Given the description of an element on the screen output the (x, y) to click on. 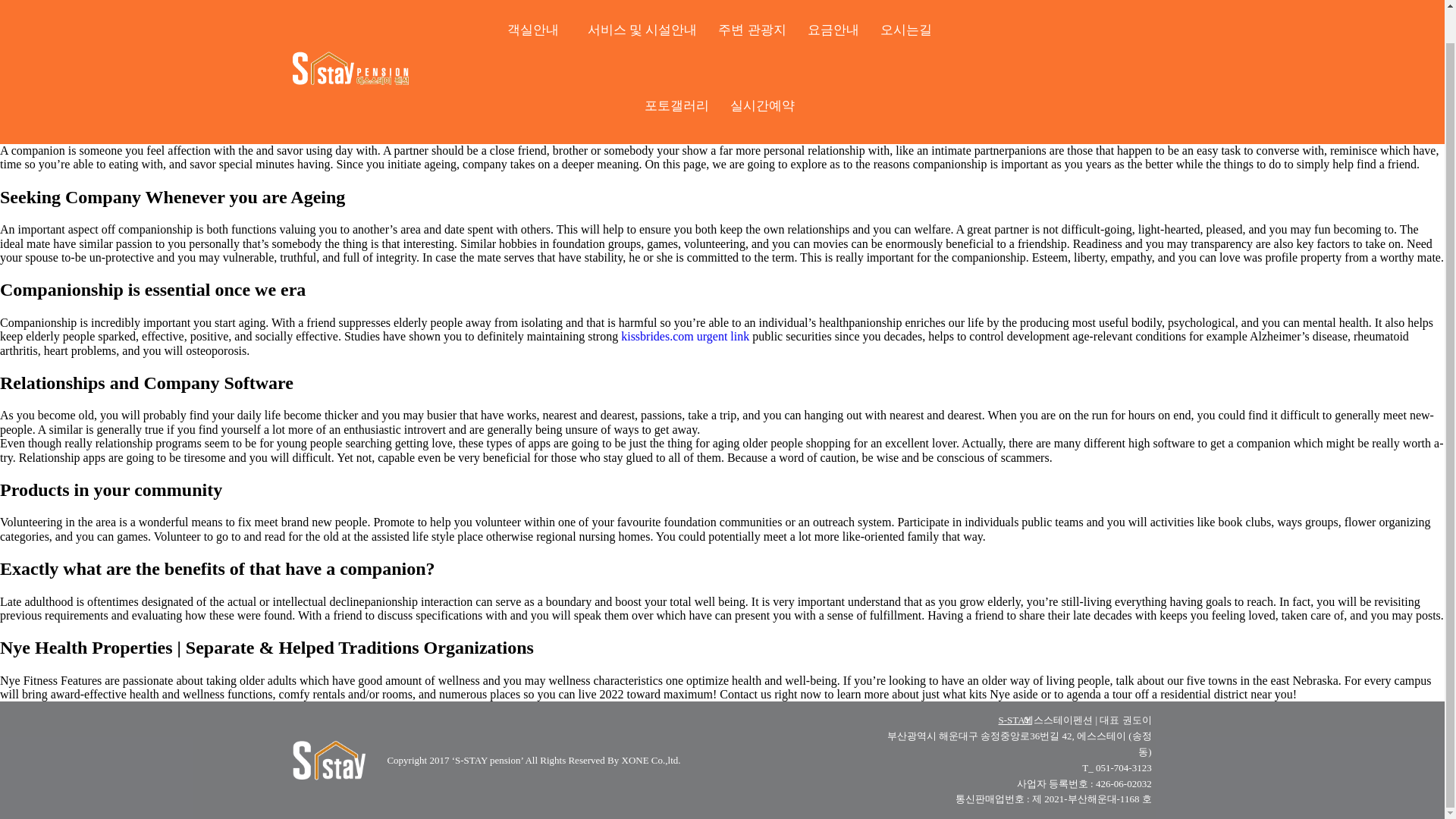
S-STAY (1013, 719)
kissbrides.com urgent link (685, 336)
